Given the description of an element on the screen output the (x, y) to click on. 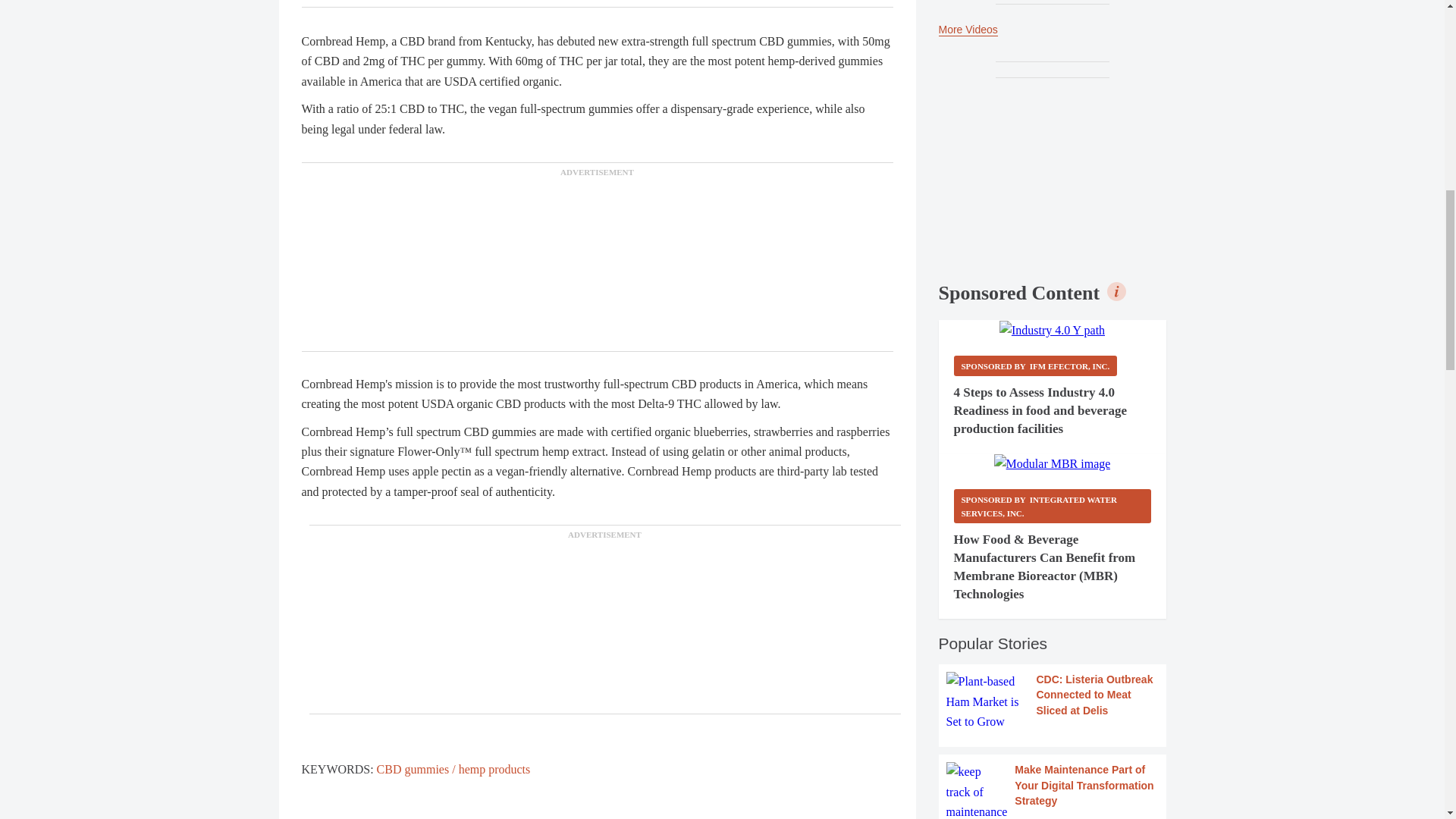
Sponsored by Integrated Water Services, Inc. (1052, 505)
CDC: Listeria Outbreak Connected to Meat Sliced at Delis (1052, 701)
Sponsored by ifm Efector, Inc. (1035, 365)
Industry 4.0 Y path (1051, 330)
Modular MBR (1052, 464)
